Given the description of an element on the screen output the (x, y) to click on. 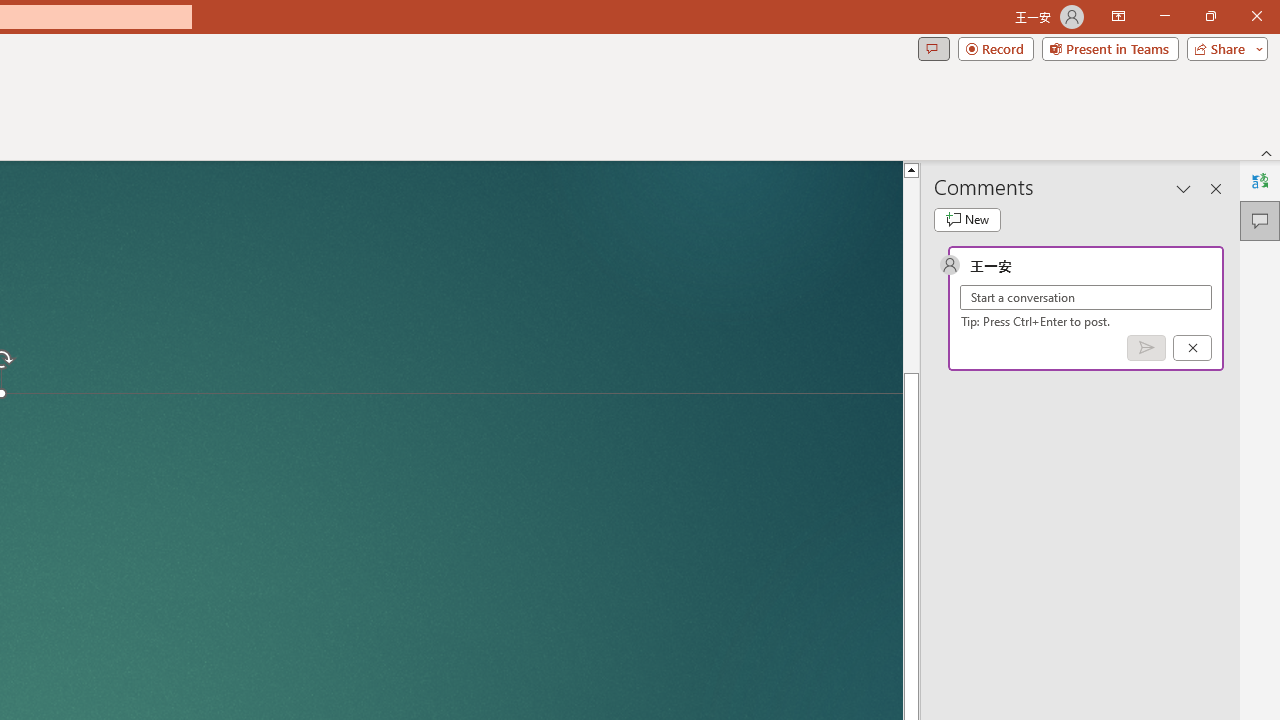
Editing (1101, 84)
Restore Down (1172, 32)
Close (1244, 32)
Share (1228, 84)
Minimize (1099, 32)
Switch Windows (290, 161)
Ribbon Display Options (1246, 220)
Comments (961, 84)
Properties (496, 161)
Macros (395, 161)
More Options (395, 187)
View Macros (395, 136)
